Given the description of an element on the screen output the (x, y) to click on. 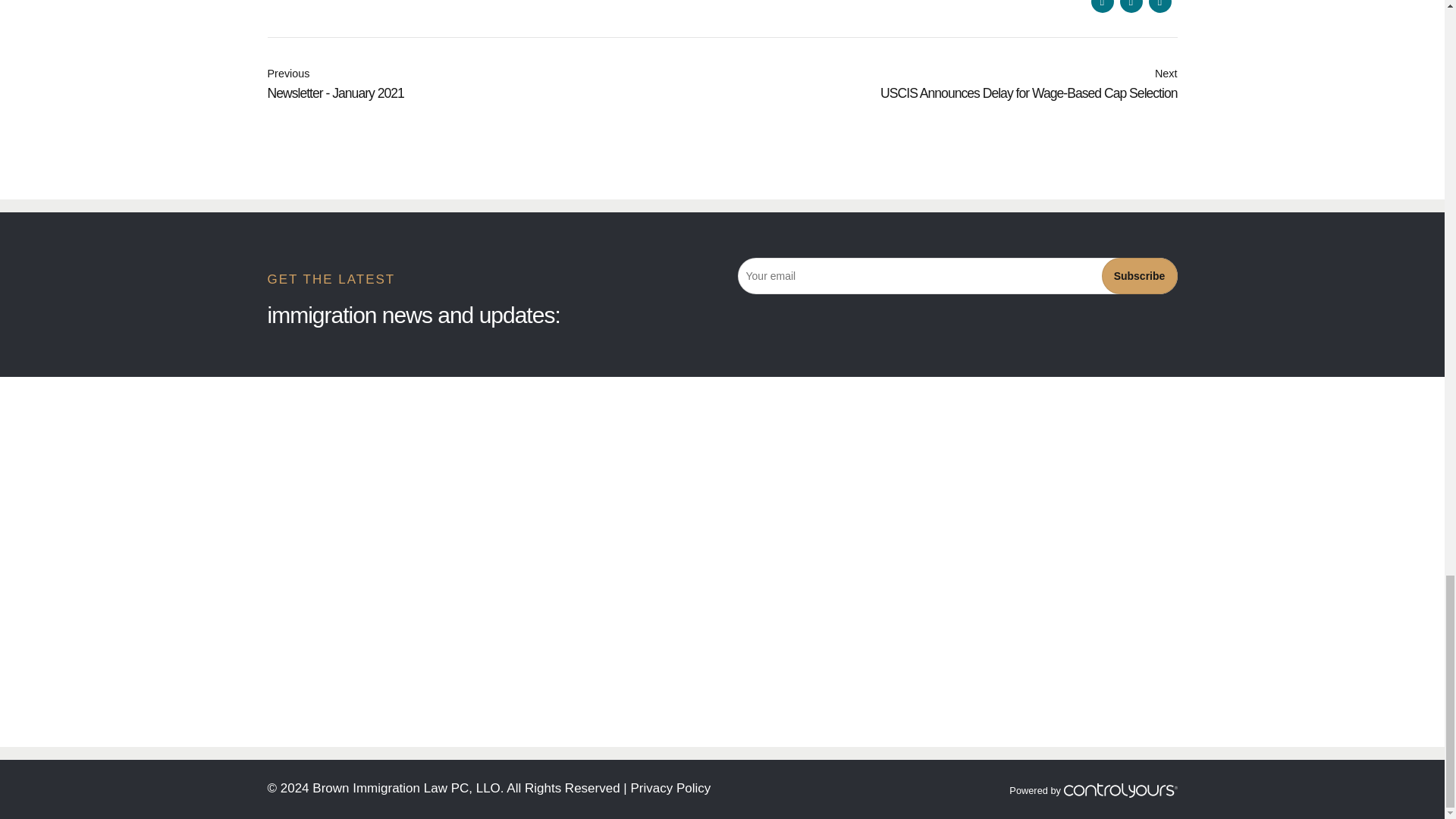
Subscribe (1138, 275)
Share on Linkedin (1159, 6)
Share on Facebook (1101, 6)
Share on Twitter (494, 84)
